Given the description of an element on the screen output the (x, y) to click on. 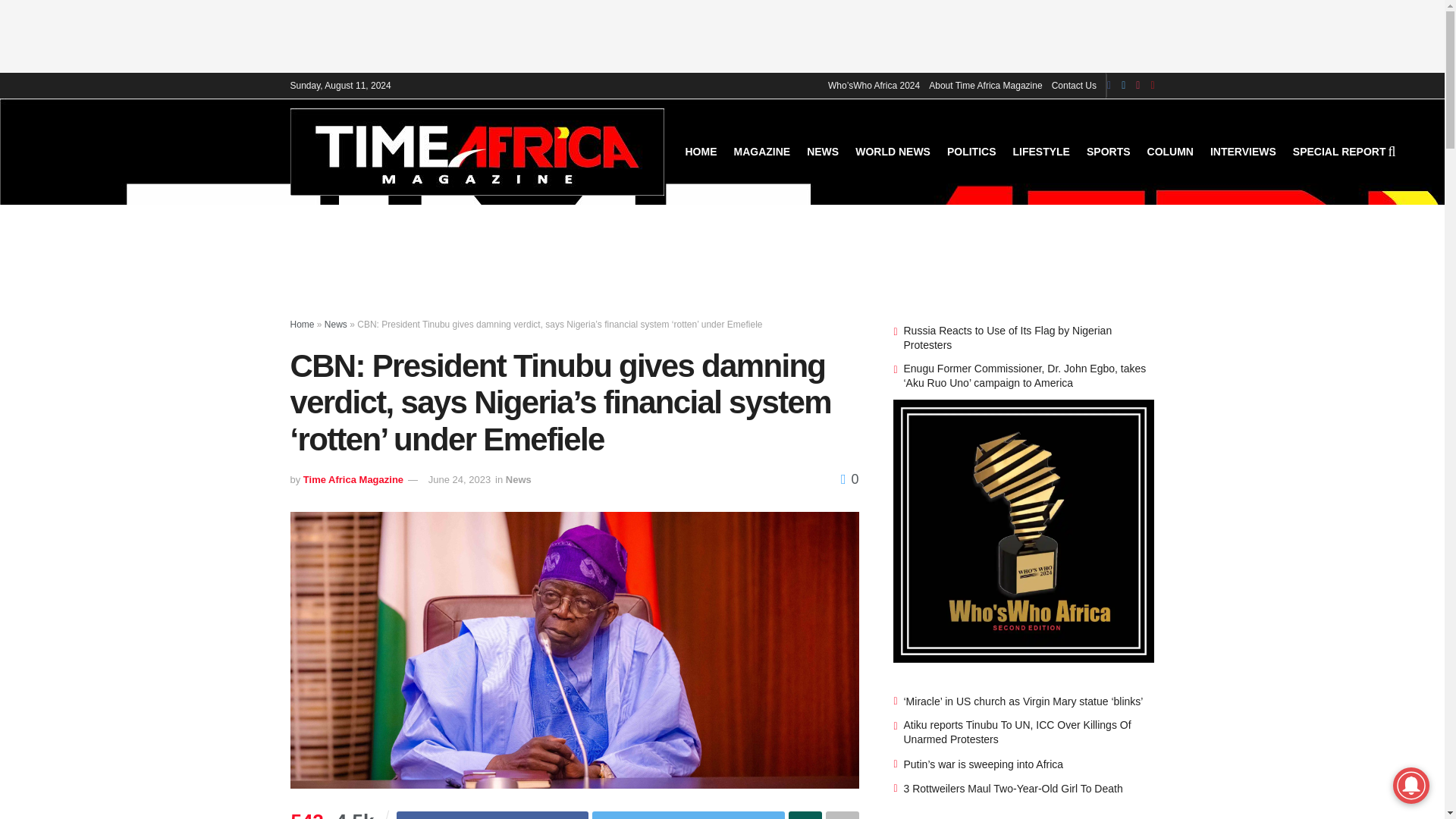
WORLD NEWS (893, 151)
About Time Africa Magazine (985, 85)
Contact Us (1073, 85)
POLITICS (971, 151)
COLUMN (1170, 151)
NEWS (822, 151)
HOME (701, 151)
LIFESTYLE (1041, 151)
MAGAZINE (761, 151)
SPECIAL REPORT (1339, 151)
